Given the description of an element on the screen output the (x, y) to click on. 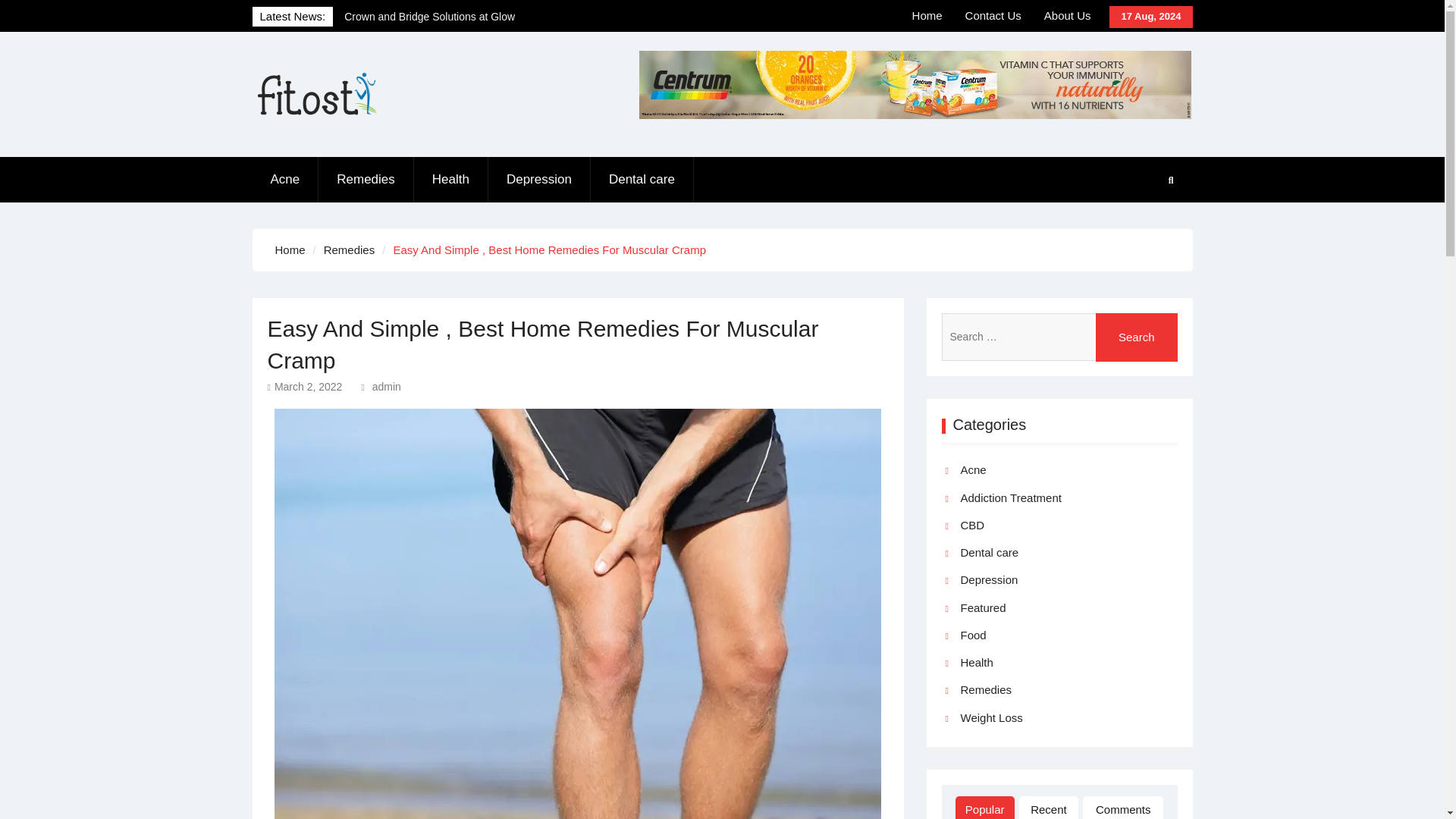
Dental care (642, 179)
Search (1136, 336)
Remedies (365, 179)
Home (289, 249)
Contact Us (992, 15)
Depression (539, 179)
March 2, 2022 (308, 386)
Search (1136, 336)
admin (386, 386)
